Given the description of an element on the screen output the (x, y) to click on. 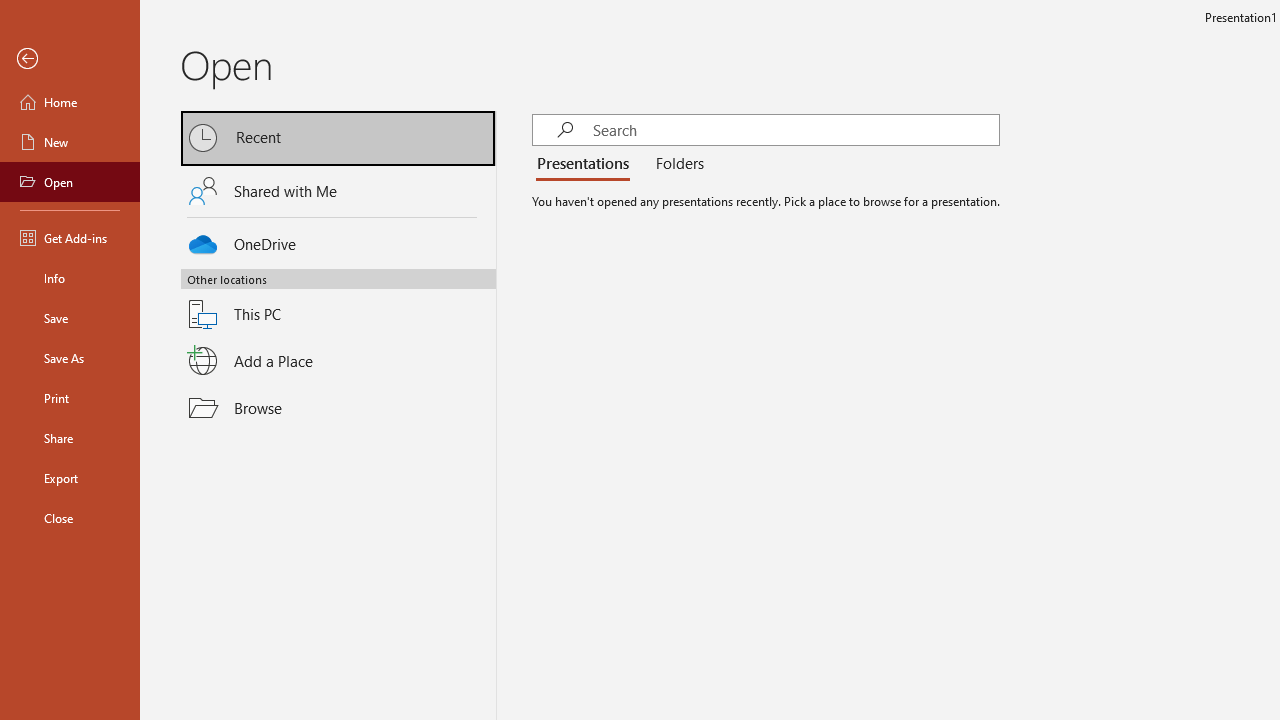
Export (69, 477)
Add a Place (338, 361)
Presentations (587, 164)
Folders (676, 164)
OneDrive (338, 240)
Print (69, 398)
New (69, 141)
This PC (338, 302)
Save As (69, 357)
Browse (338, 407)
